Given the description of an element on the screen output the (x, y) to click on. 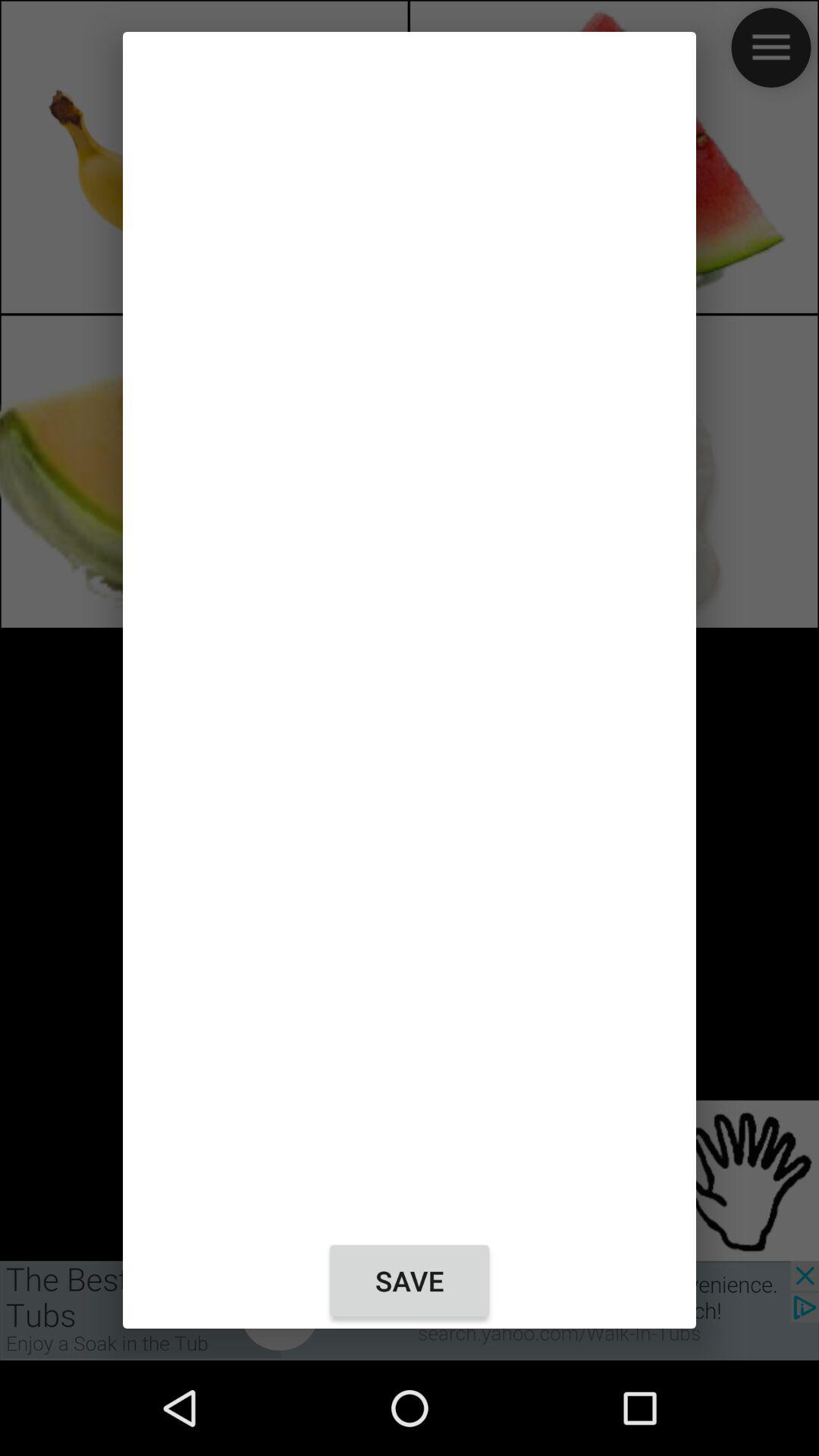
turn off save (409, 1280)
